Given the description of an element on the screen output the (x, y) to click on. 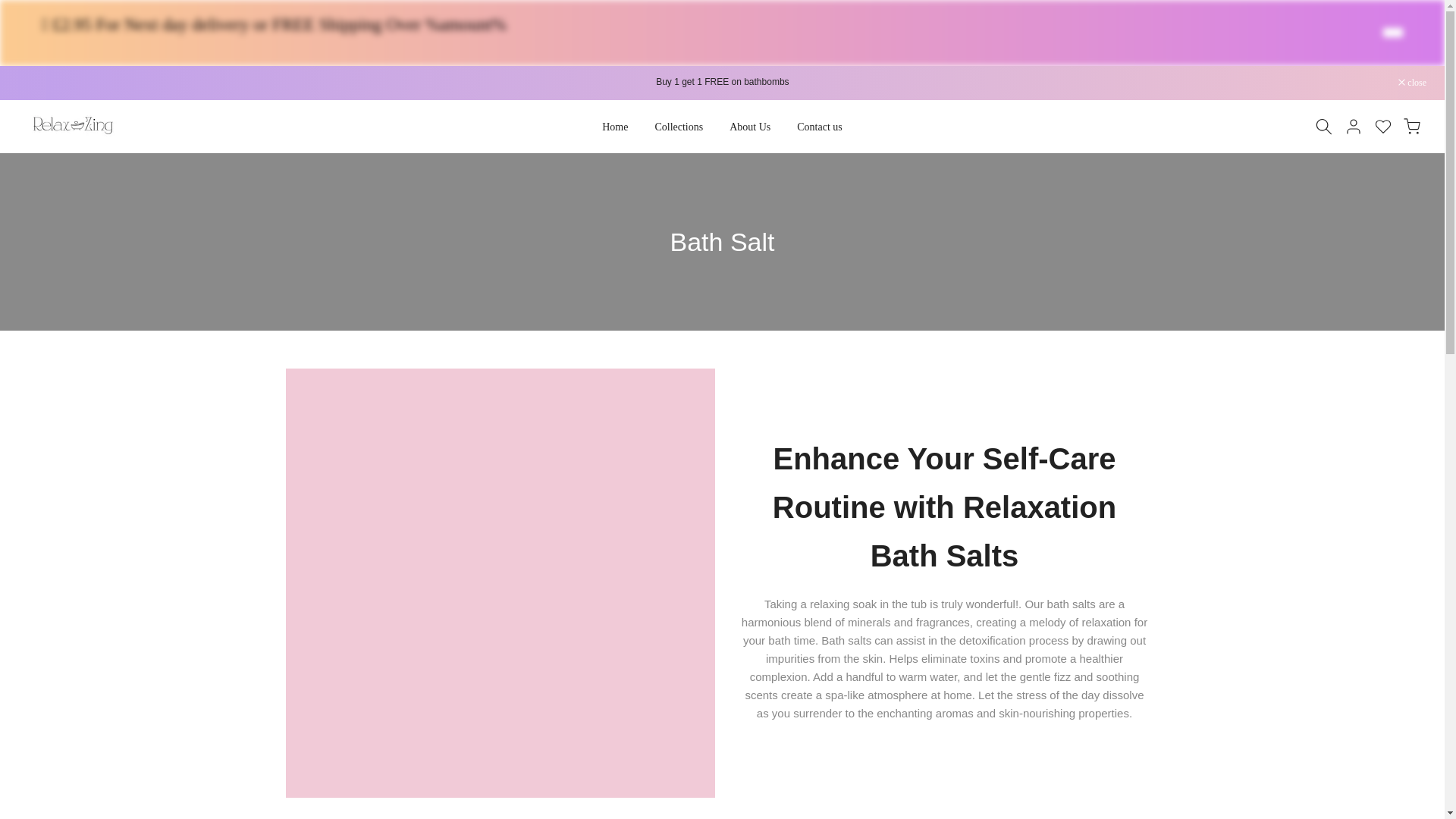
Skip to content (10, 72)
close (1411, 81)
Contact us (820, 126)
Collections (679, 126)
About Us (750, 126)
Home (615, 126)
